Given the description of an element on the screen output the (x, y) to click on. 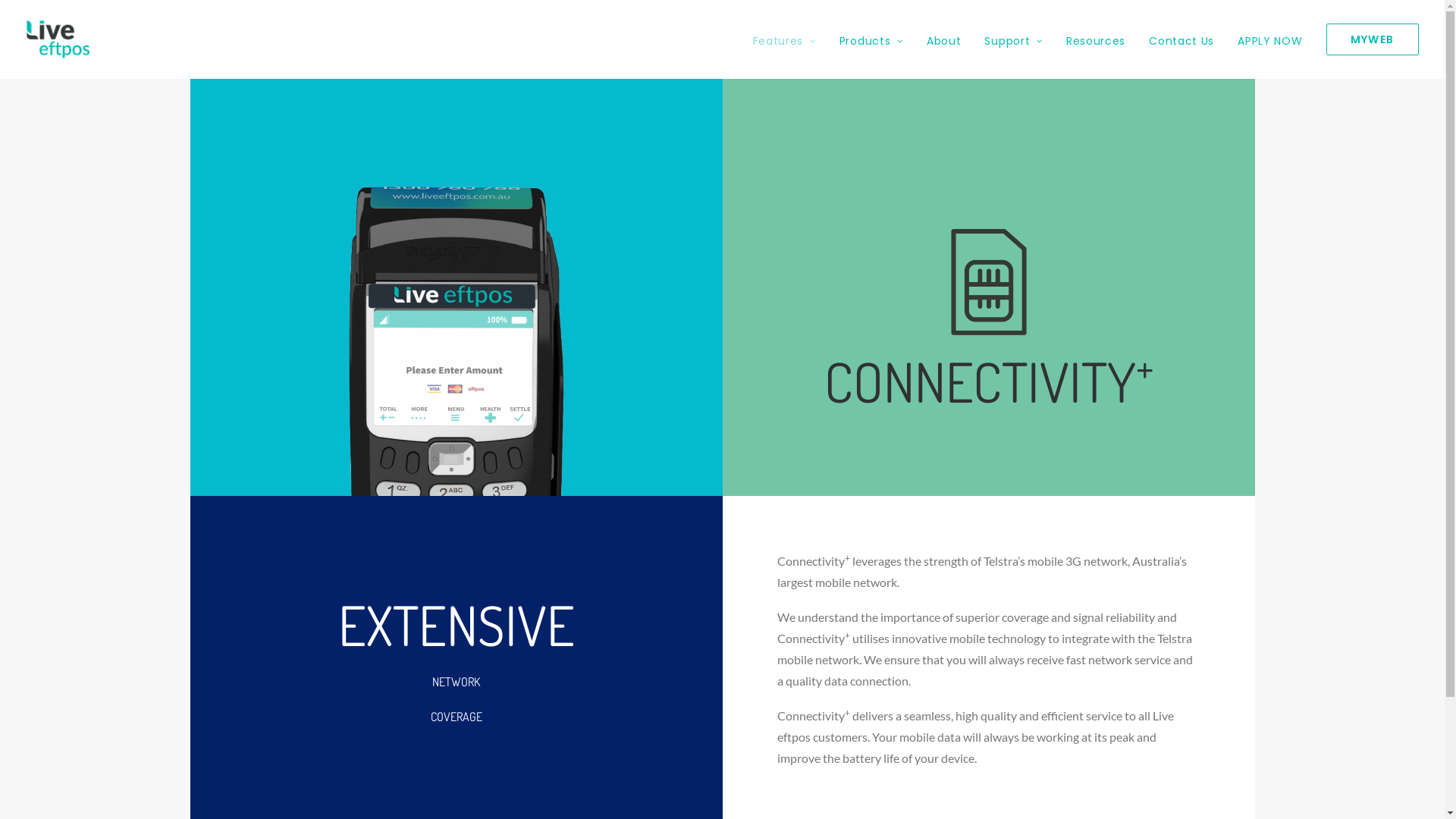
About Element type: text (944, 39)
APPLY NOW Element type: text (1269, 39)
Resources Element type: text (1095, 39)
Features Element type: text (789, 39)
MYWEB Element type: text (1366, 39)
Contact Us Element type: text (1181, 39)
Support Element type: text (1012, 39)
Products Element type: text (870, 39)
